Given the description of an element on the screen output the (x, y) to click on. 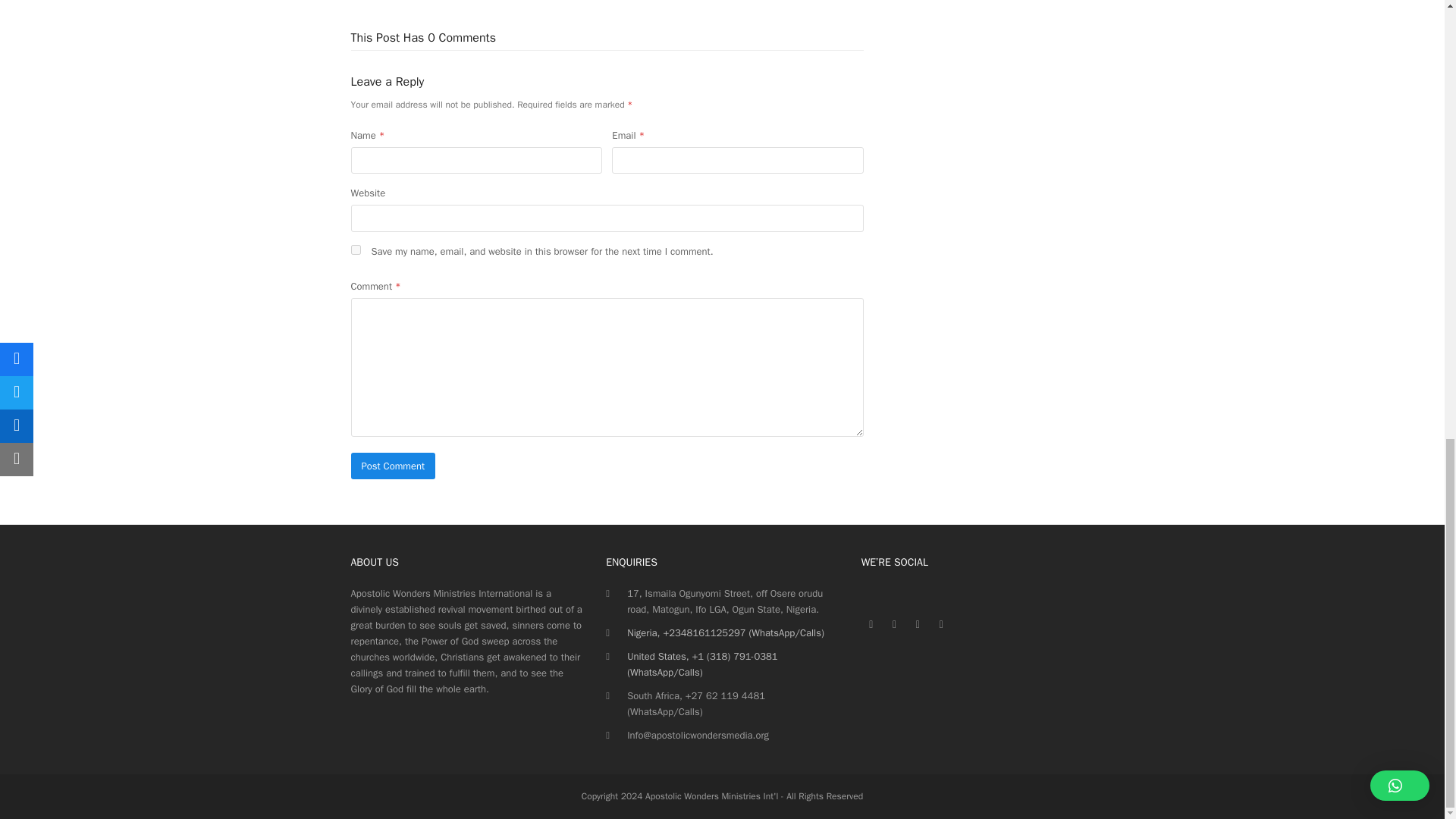
yes (354, 249)
Facebook (870, 625)
Post Comment (392, 465)
YouTube (940, 625)
Instagram (894, 625)
Whatsapp (918, 625)
Post Comment (392, 465)
